Given the description of an element on the screen output the (x, y) to click on. 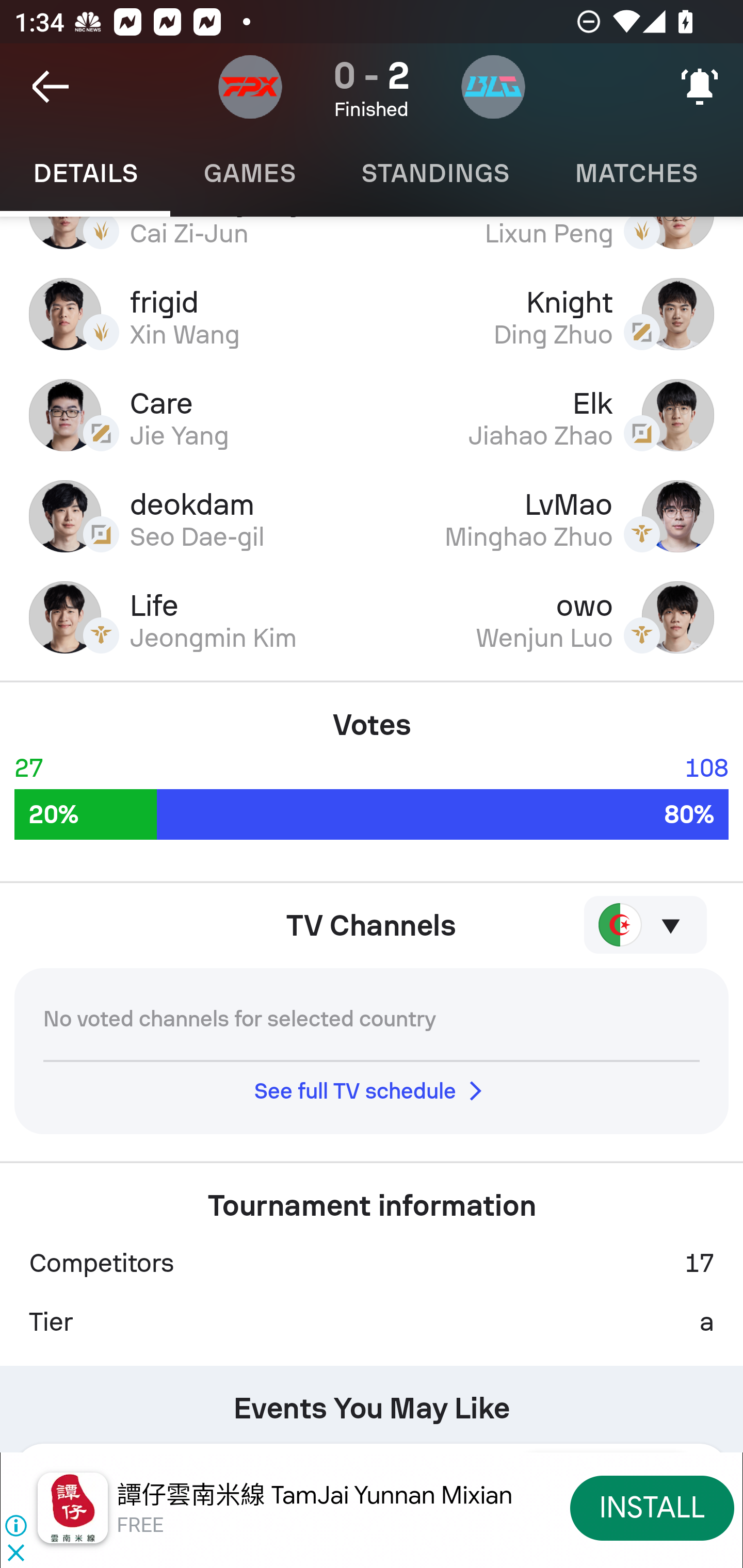
Navigate up (50, 86)
Games GAMES (249, 173)
Standings STANDINGS (434, 173)
Matches MATCHES (635, 173)
frigid Knight Xin Wang Ding Zhuo (371, 314)
Care Elk Jie Yang Jiahao Zhao (371, 415)
deokdam LvMao Seo Dae-gil Minghao Zhuo (371, 516)
Life owo Jeongmin Kim Wenjun Luo (371, 617)
See full TV schedule (371, 1090)
Events You May Like (371, 1400)
INSTALL (652, 1507)
譚仔雲南米線 TamJai Yunnan Mixian (314, 1494)
FREE (139, 1525)
